Given the description of an element on the screen output the (x, y) to click on. 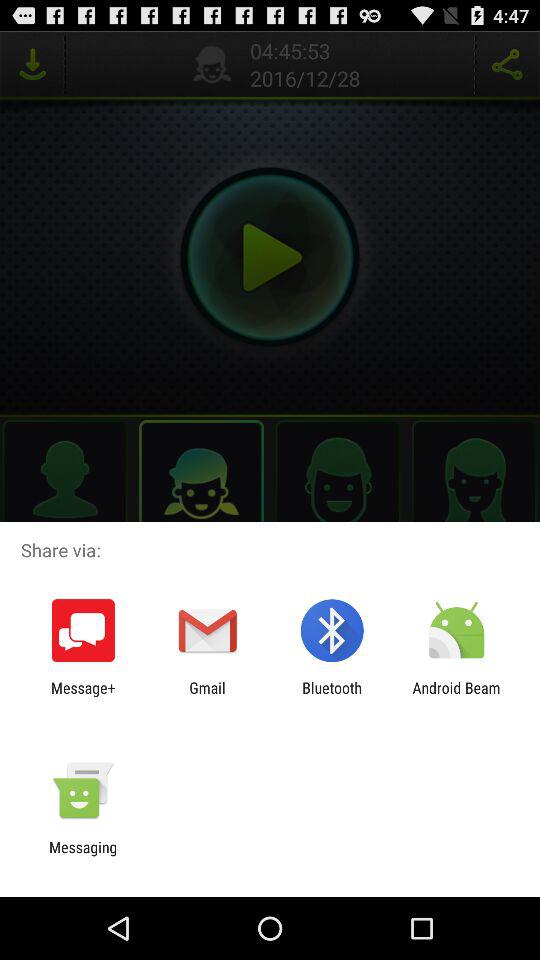
open icon to the right of bluetooth (456, 696)
